Given the description of an element on the screen output the (x, y) to click on. 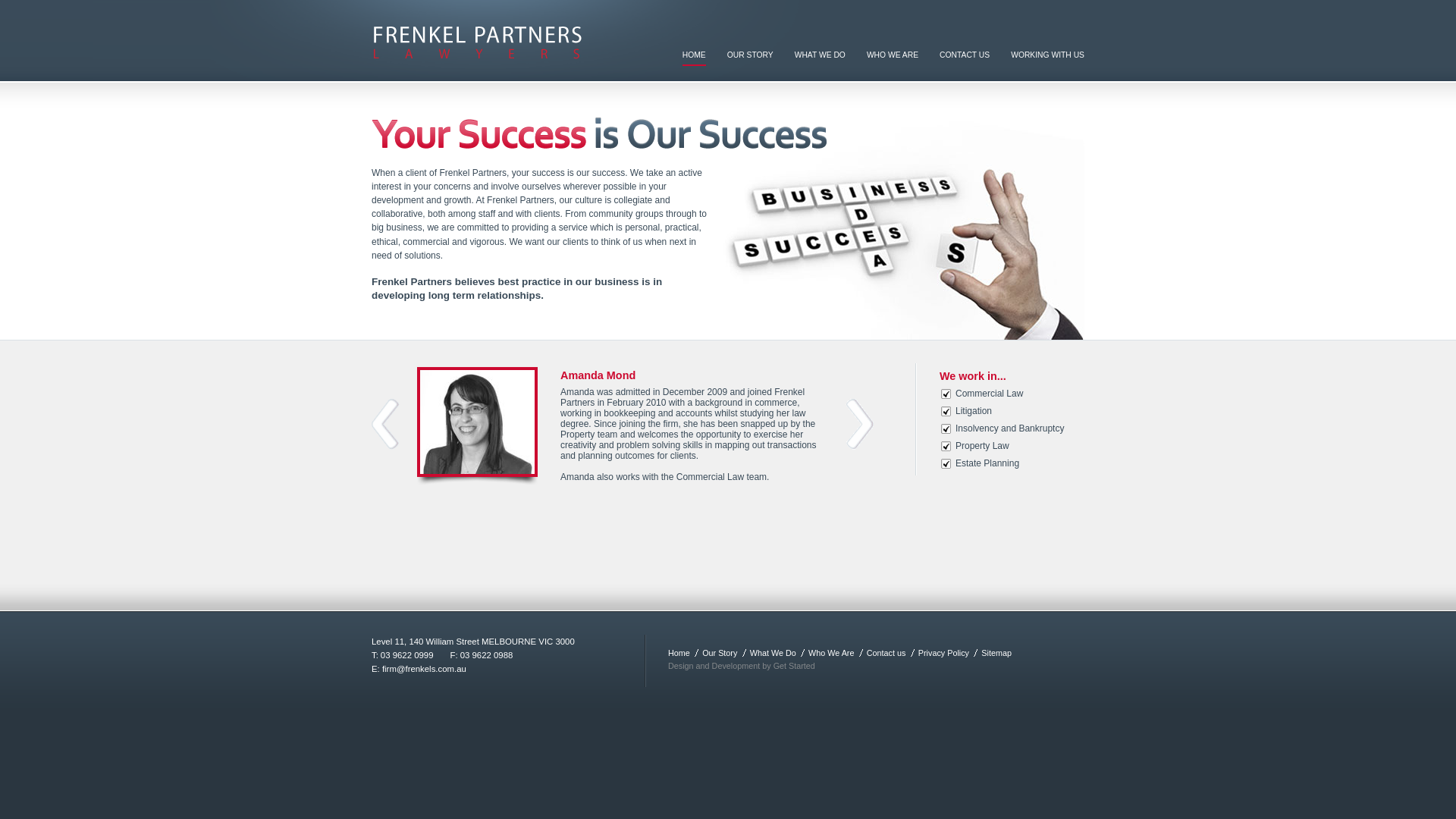
Contact us Element type: text (886, 652)
WORKING WITH US Element type: text (1047, 57)
Commercial Law Element type: text (988, 393)
Home Element type: text (679, 652)
Sitemap Element type: text (996, 652)
Estate Planning Element type: text (987, 463)
WHAT WE DO Element type: text (819, 57)
CONTACT US Element type: text (964, 57)
OUR STORY Element type: text (750, 57)
Get Started Element type: text (794, 665)
Amanda Mond Element type: text (691, 375)
HOME Element type: text (694, 57)
Who We Are Element type: text (830, 652)
Privacy Policy Element type: text (943, 652)
Litigation Element type: text (973, 410)
Our Story Element type: text (719, 652)
Property Law Element type: text (982, 445)
What We Do Element type: text (772, 652)
Insolvency and Bankruptcy Element type: text (1009, 428)
WHO WE ARE Element type: text (892, 57)
Frenkel Partners Element type: text (477, 42)
< Element type: text (385, 423)
> Element type: text (859, 423)
